Given the description of an element on the screen output the (x, y) to click on. 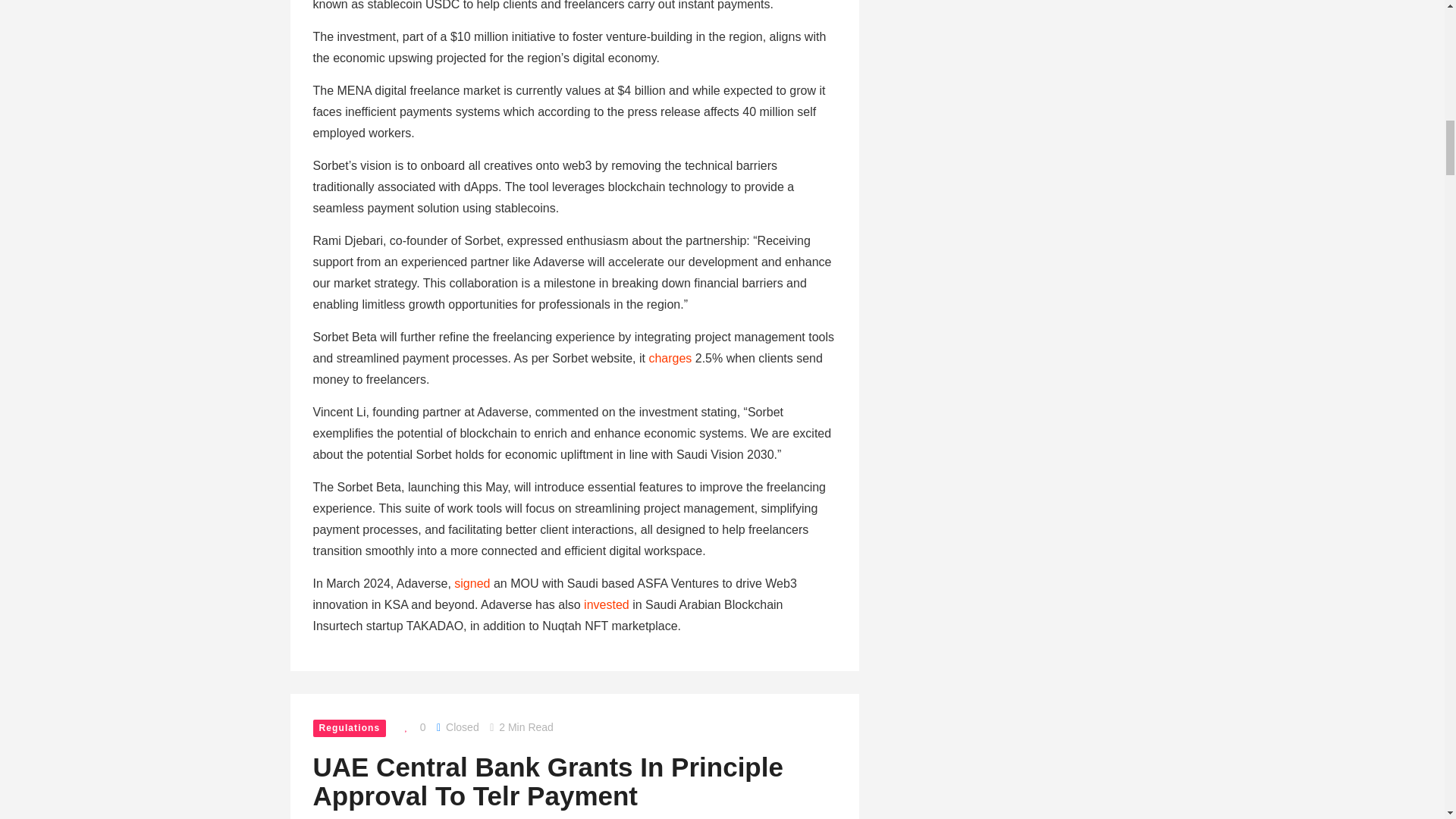
Like this (411, 726)
